Given the description of an element on the screen output the (x, y) to click on. 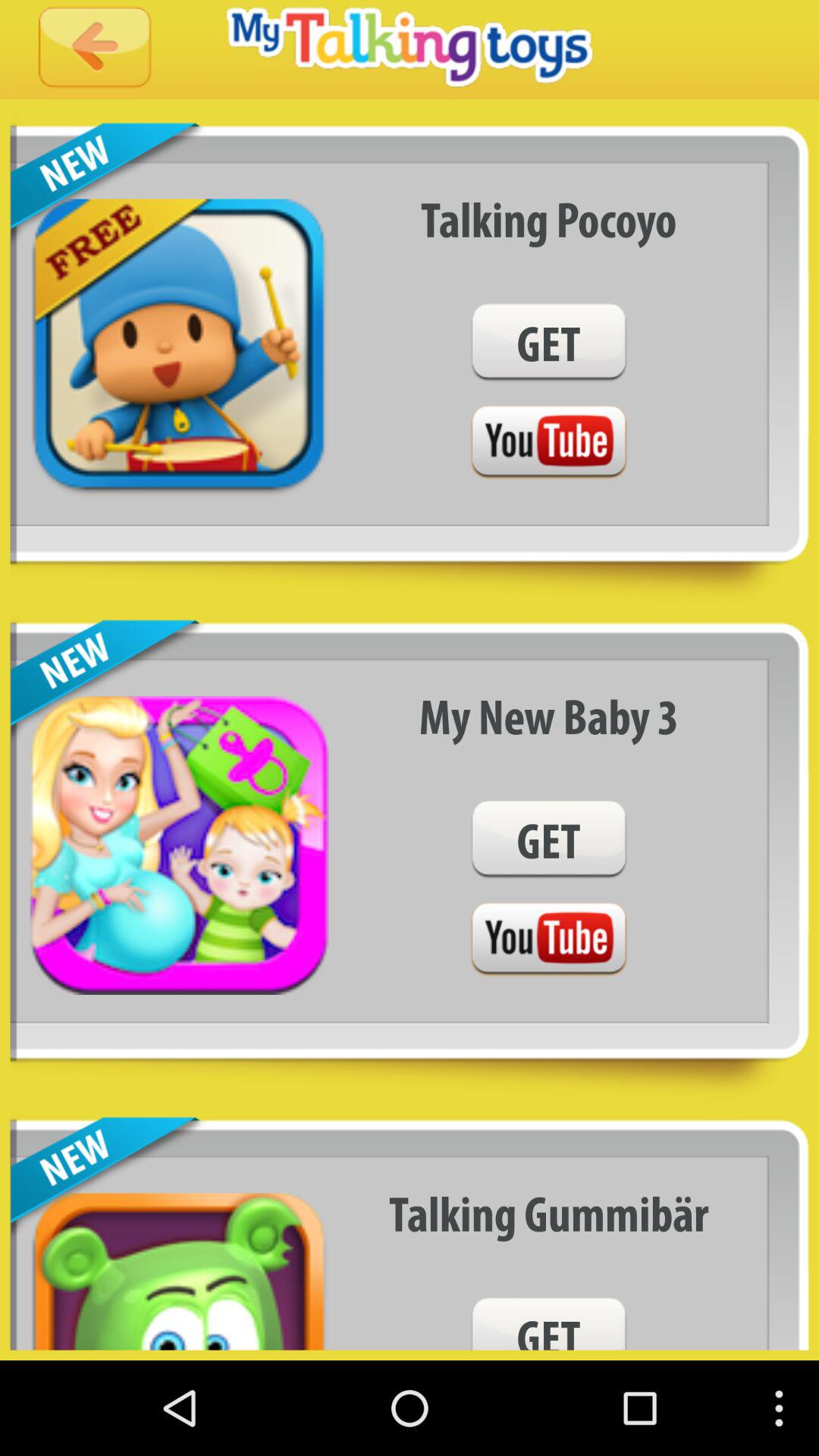
open the icon above the get (548, 715)
